Given the description of an element on the screen output the (x, y) to click on. 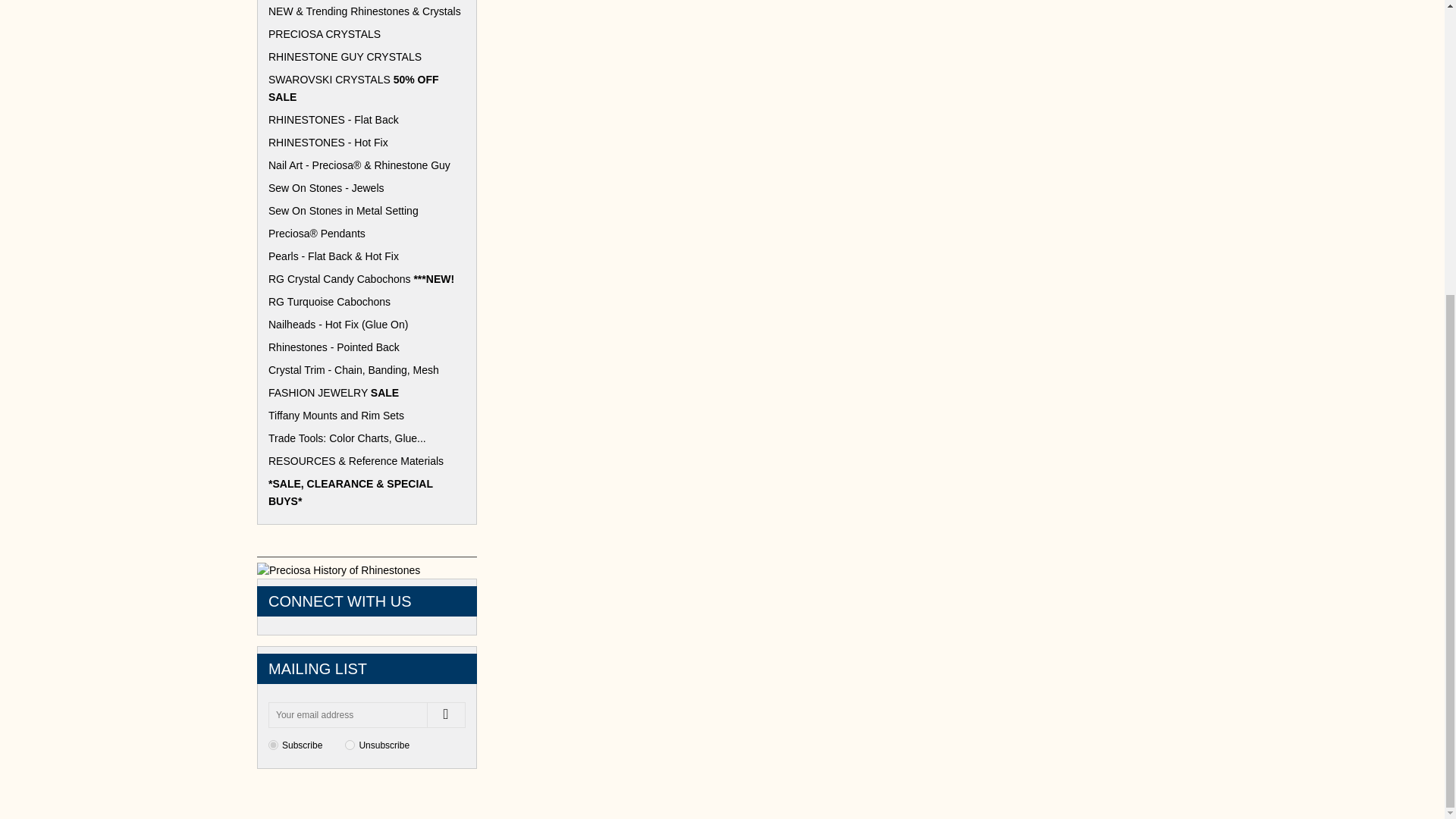
RHINESTONE GUY CRYSTALS (366, 57)
RHINESTONES - Hot Fix (366, 142)
RHINESTONES - Flat Back (366, 119)
Sew On Stones - Jewels (366, 188)
0 (350, 745)
Tiffany Mounts and Rim Sets (366, 416)
Crystal Trim - Chain, Banding, Mesh (366, 370)
Sew On Stones in Metal Setting (366, 211)
1 (272, 745)
RG Turquoise Cabochons (366, 302)
Rhinestones - Pointed Back (366, 347)
FASHION JEWELRY SALE (366, 393)
PRECIOSA CRYSTALS (366, 34)
Trade Tools: Color Charts, Glue... (366, 438)
